Given the description of an element on the screen output the (x, y) to click on. 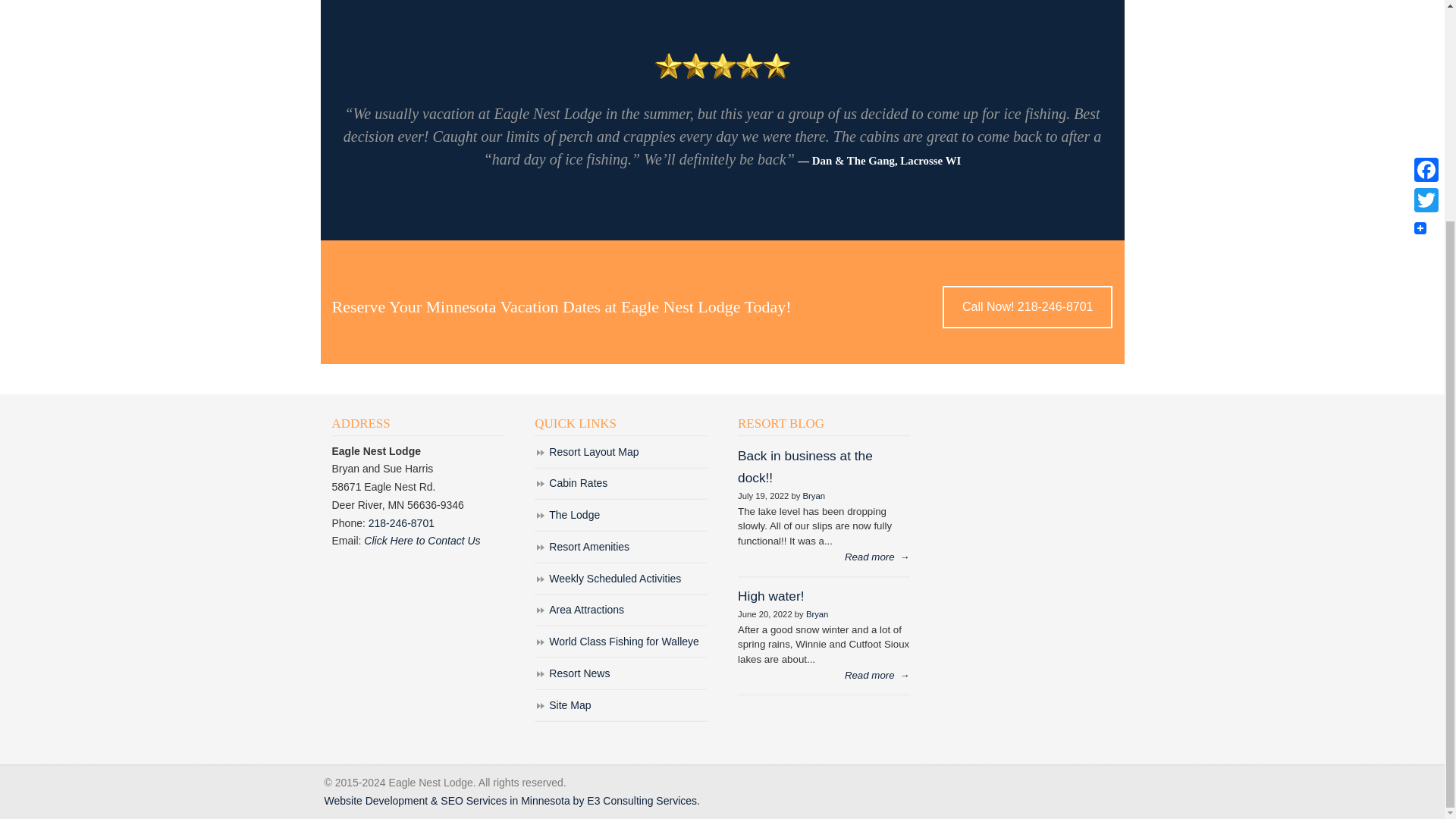
Back in business at the dock!! (805, 466)
Posts by Bryan (817, 614)
Posts by Bryan (813, 495)
Back in business at the dock!! (877, 557)
High water! (877, 675)
High water! (770, 595)
